Given the description of an element on the screen output the (x, y) to click on. 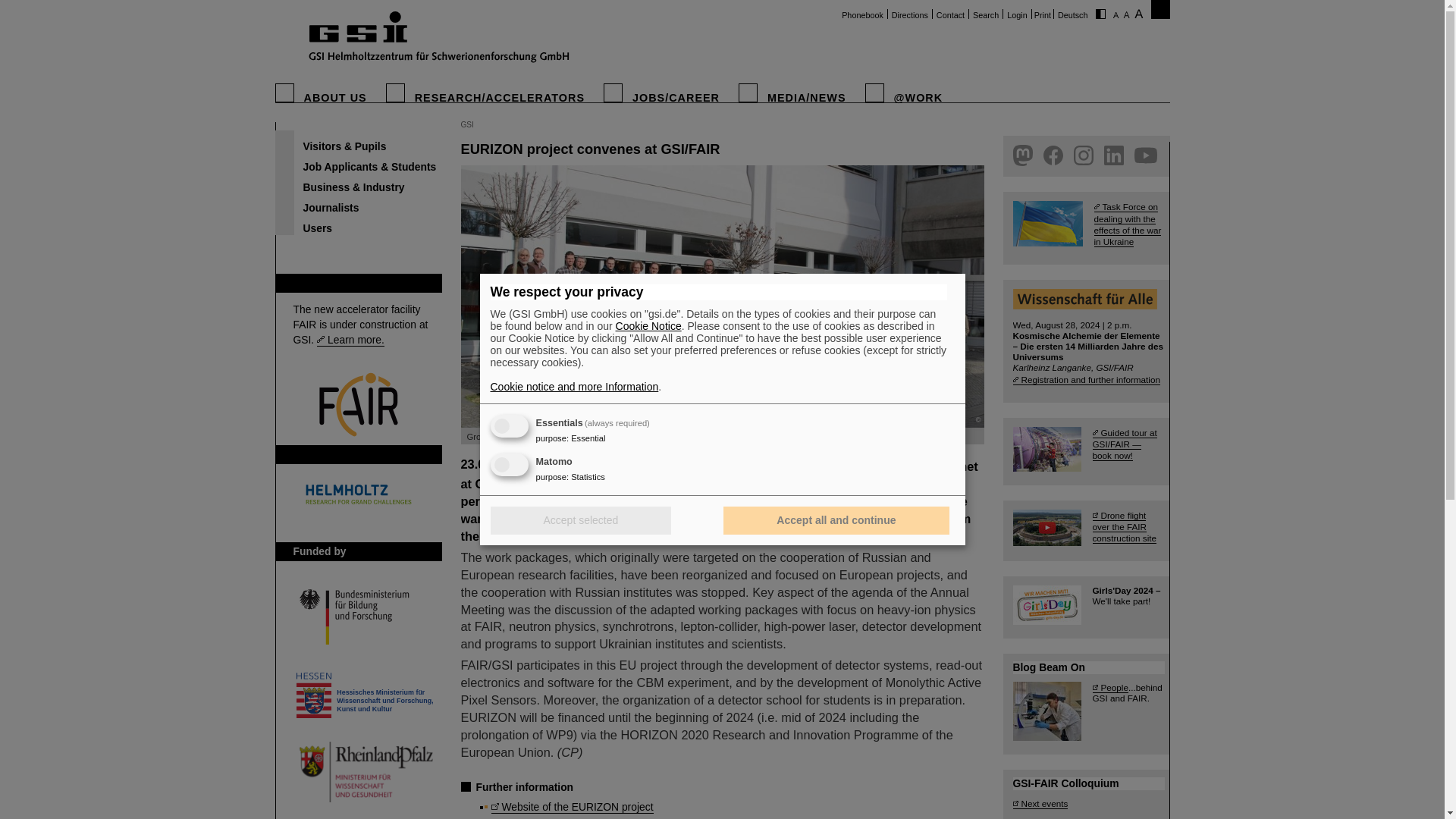
GSI is member of (335, 453)
Contact (950, 14)
Journalists (358, 203)
HMWK (363, 694)
BMBF (363, 617)
ABOUT US (339, 98)
Opens internal link in current window (350, 339)
FAIR (304, 282)
Search (986, 14)
Login (1016, 14)
